Given the description of an element on the screen output the (x, y) to click on. 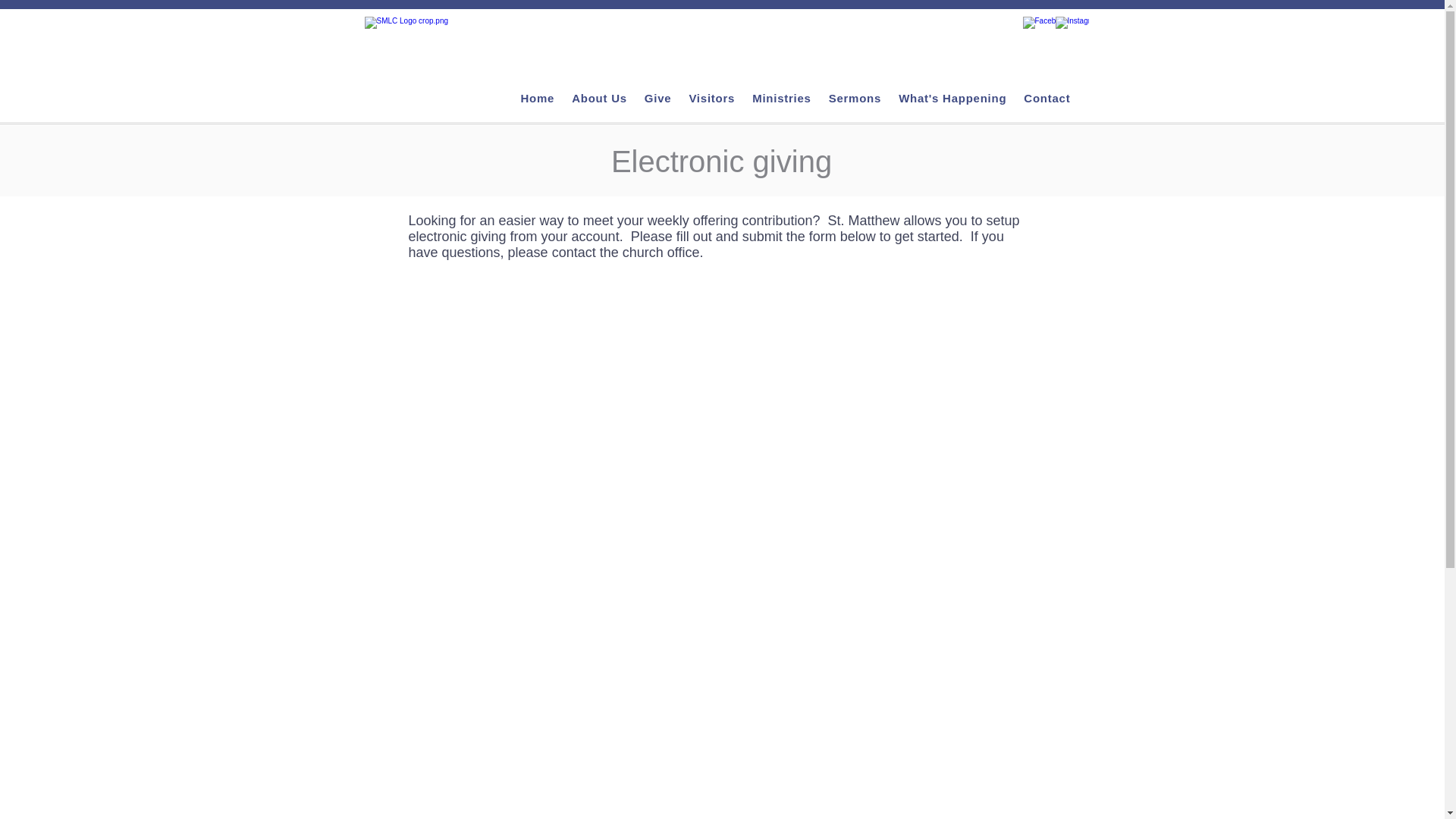
Give (658, 97)
Home (537, 97)
Contact (1046, 97)
Sermons (855, 97)
Visitors (711, 97)
Ministries (781, 97)
About Us (599, 97)
